Given the description of an element on the screen output the (x, y) to click on. 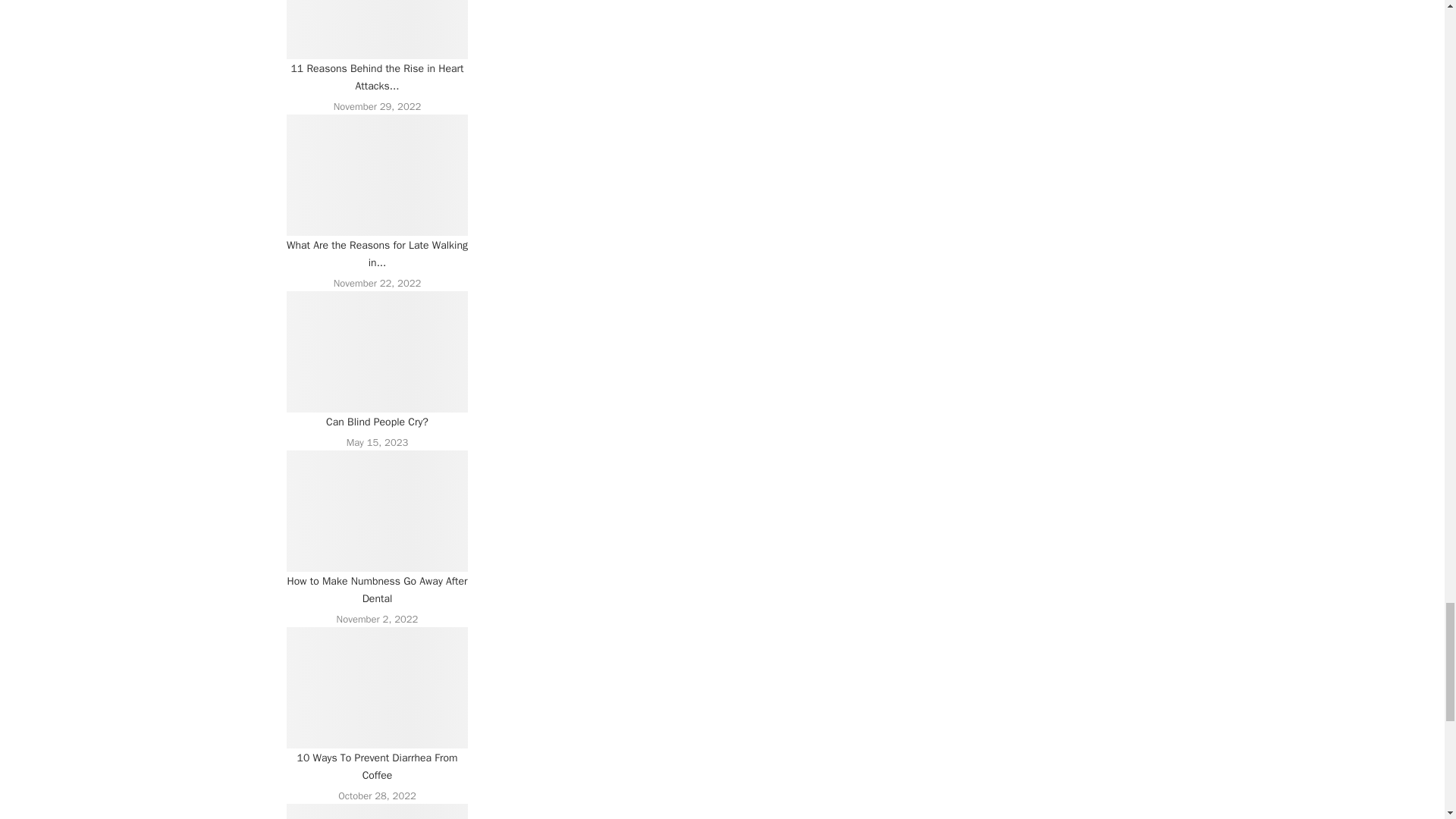
What Are the Reasons for Late Walking in Babies (377, 174)
How To Avoid Dry Socket After Tooth Extraction (377, 811)
How to Make Numbness Go Away After Dental (377, 510)
10 Ways To Prevent Diarrhea From Coffee (377, 687)
Can Blind People Cry? (377, 351)
